Given the description of an element on the screen output the (x, y) to click on. 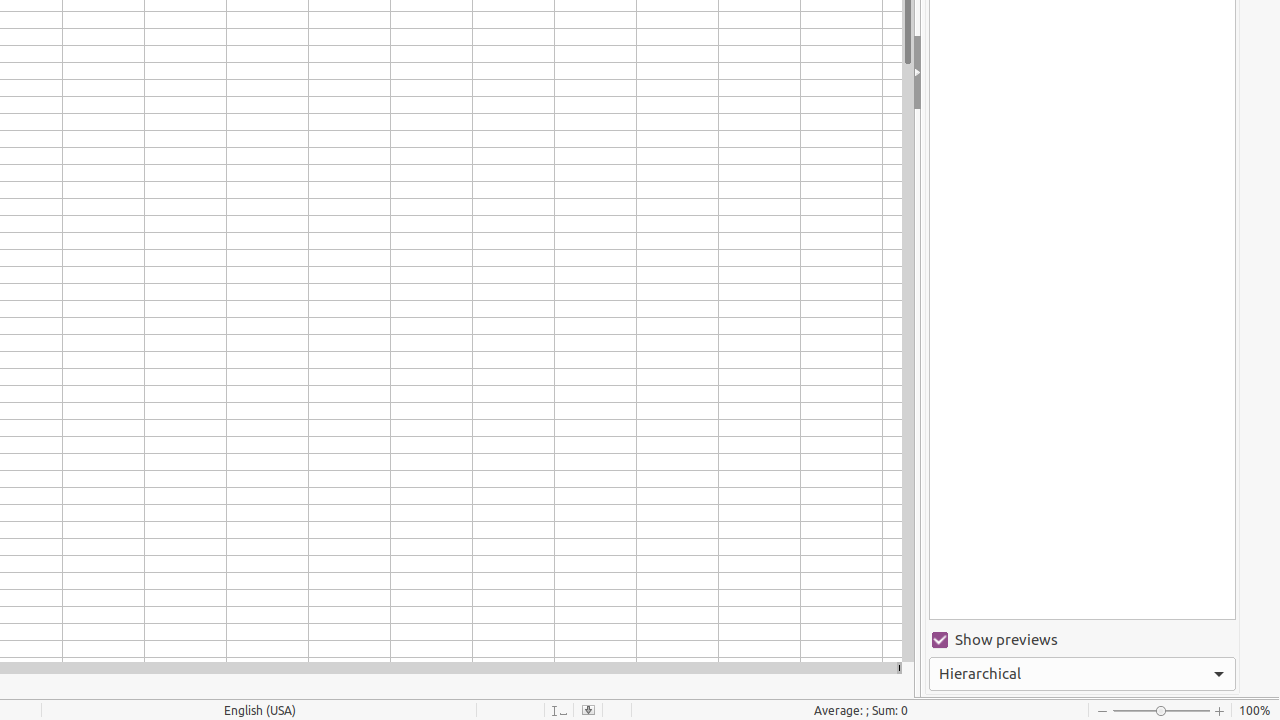
Show previews Element type: check-box (1082, 640)
